Given the description of an element on the screen output the (x, y) to click on. 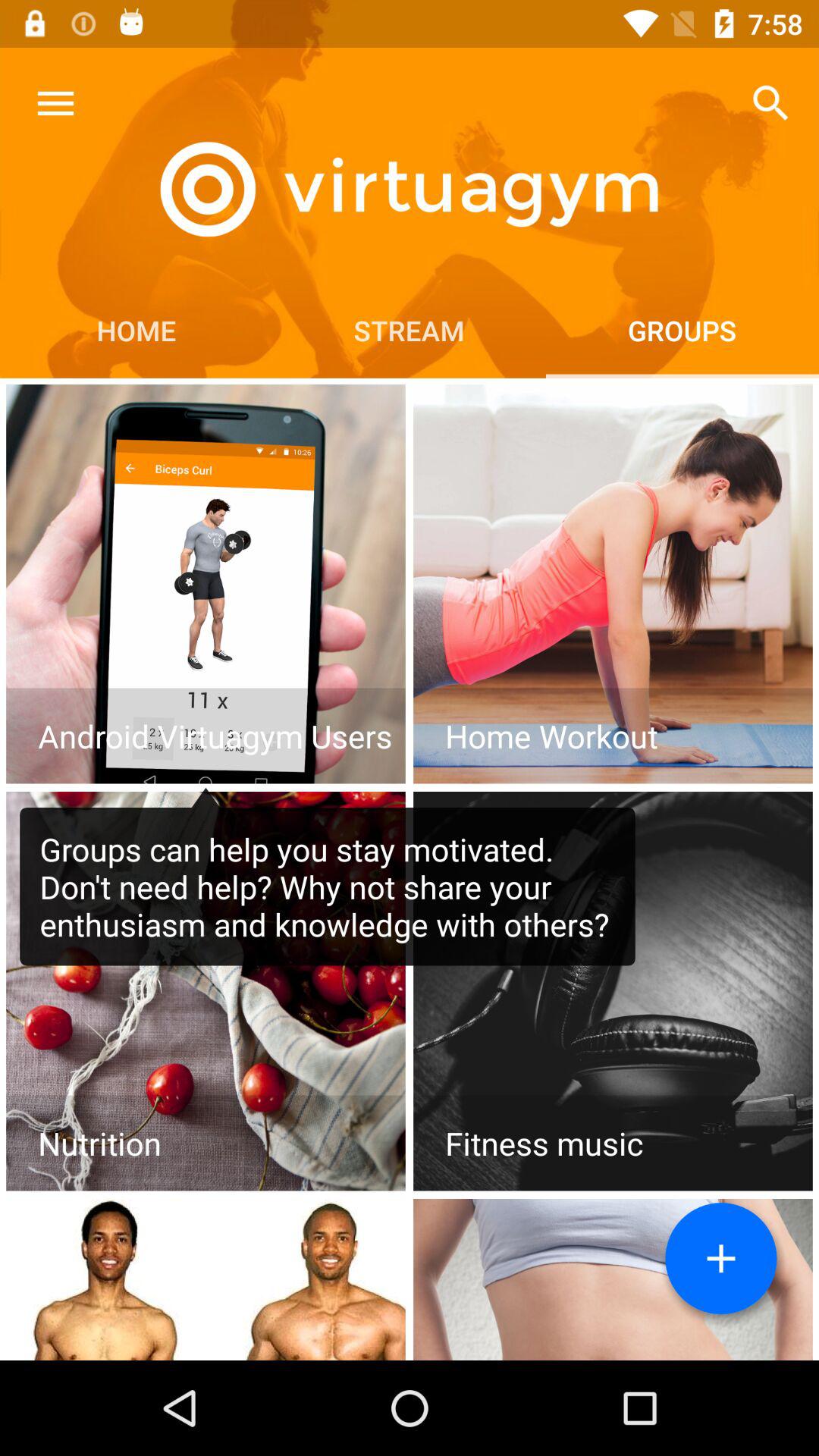
select fitness music category (612, 990)
